Given the description of an element on the screen output the (x, y) to click on. 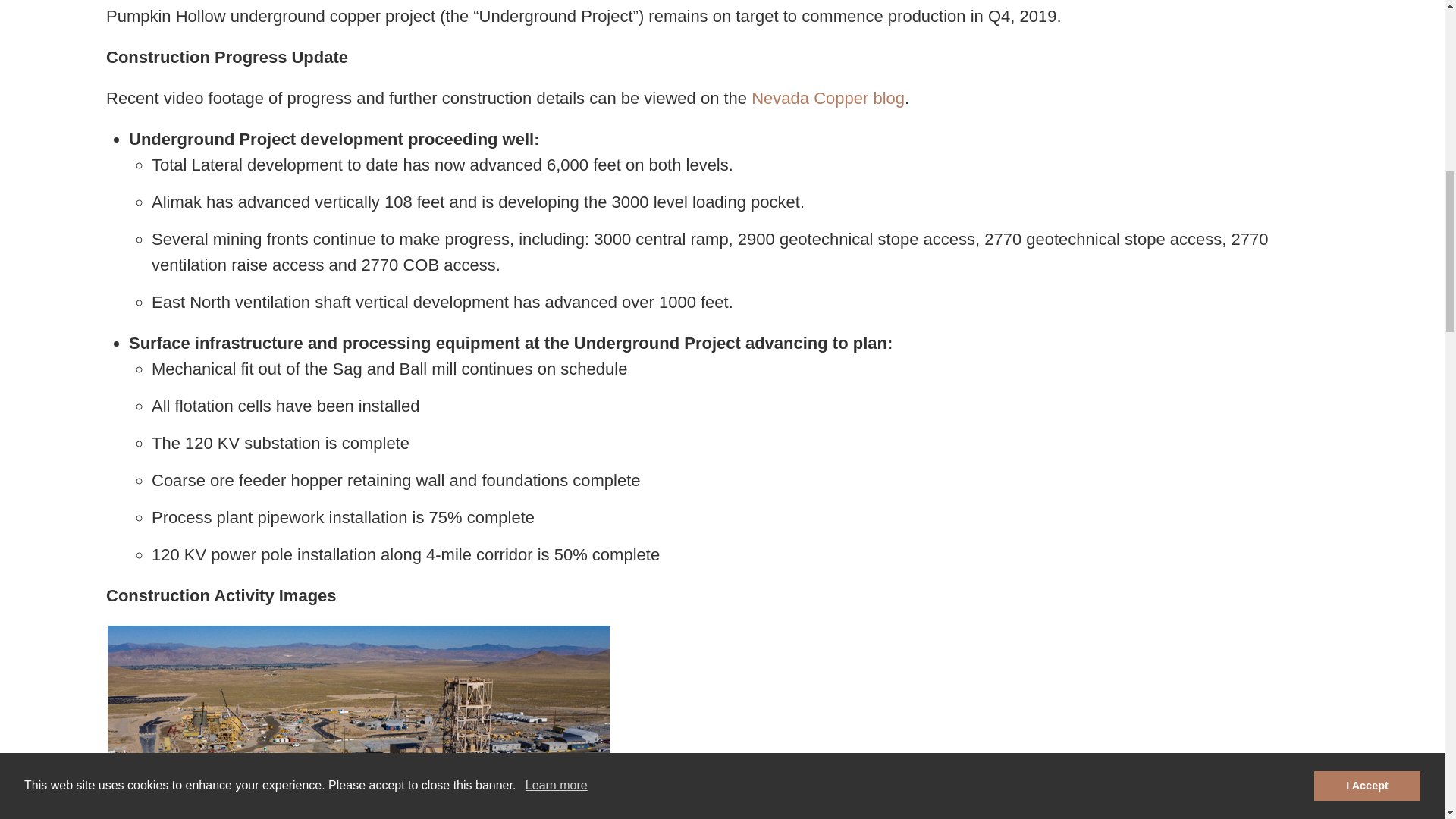
Nevada Copper blog (827, 98)
